Given the description of an element on the screen output the (x, y) to click on. 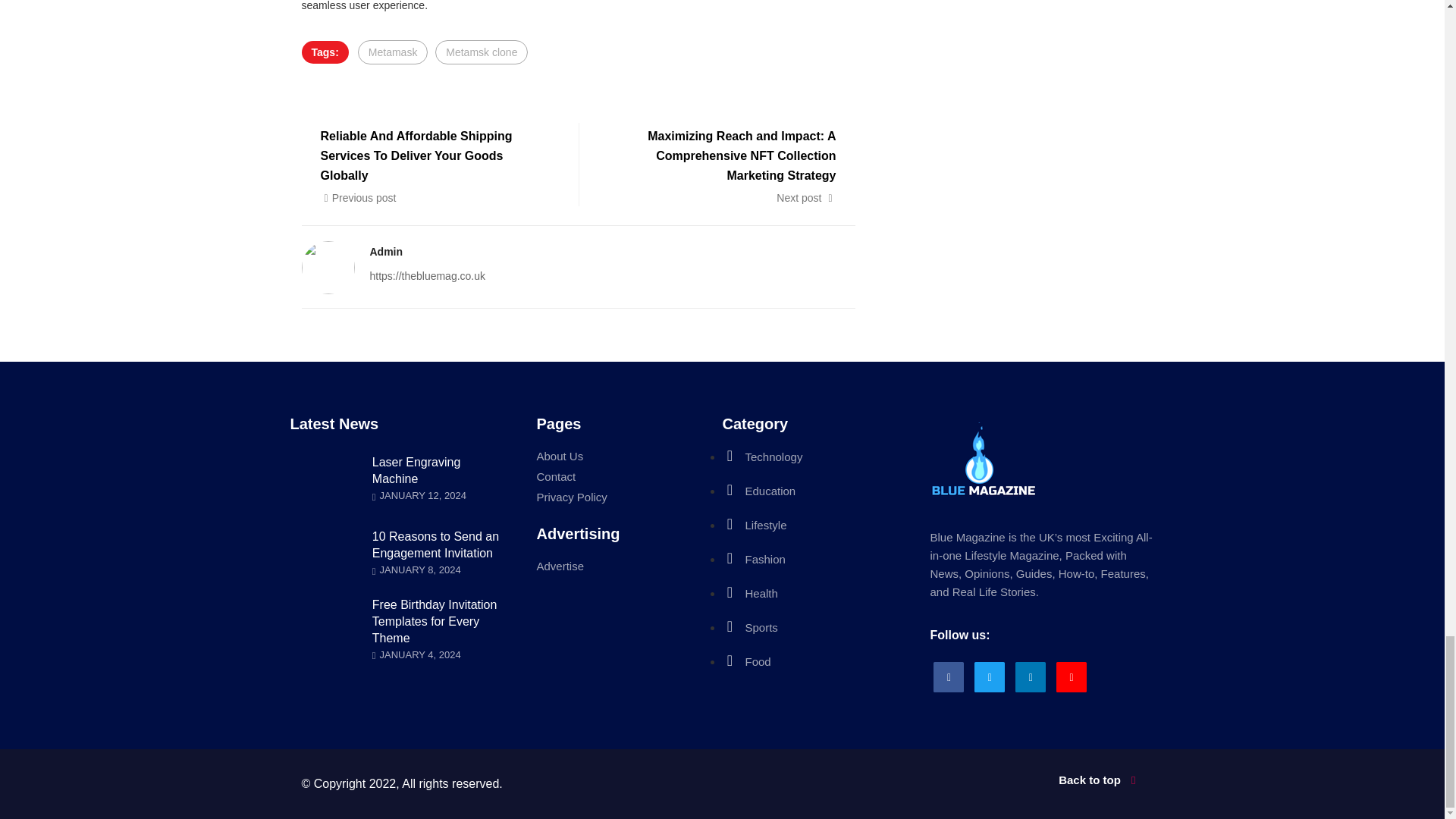
Free Birthday Invitation Templates for Every Theme in 2024 (434, 621)
Back to top (937, 780)
Metamask (393, 52)
10 Reasons to Send an Engagement Invitation Message (435, 544)
Laser Engraving Machine (416, 470)
Metamsk clone (481, 52)
